Given the description of an element on the screen output the (x, y) to click on. 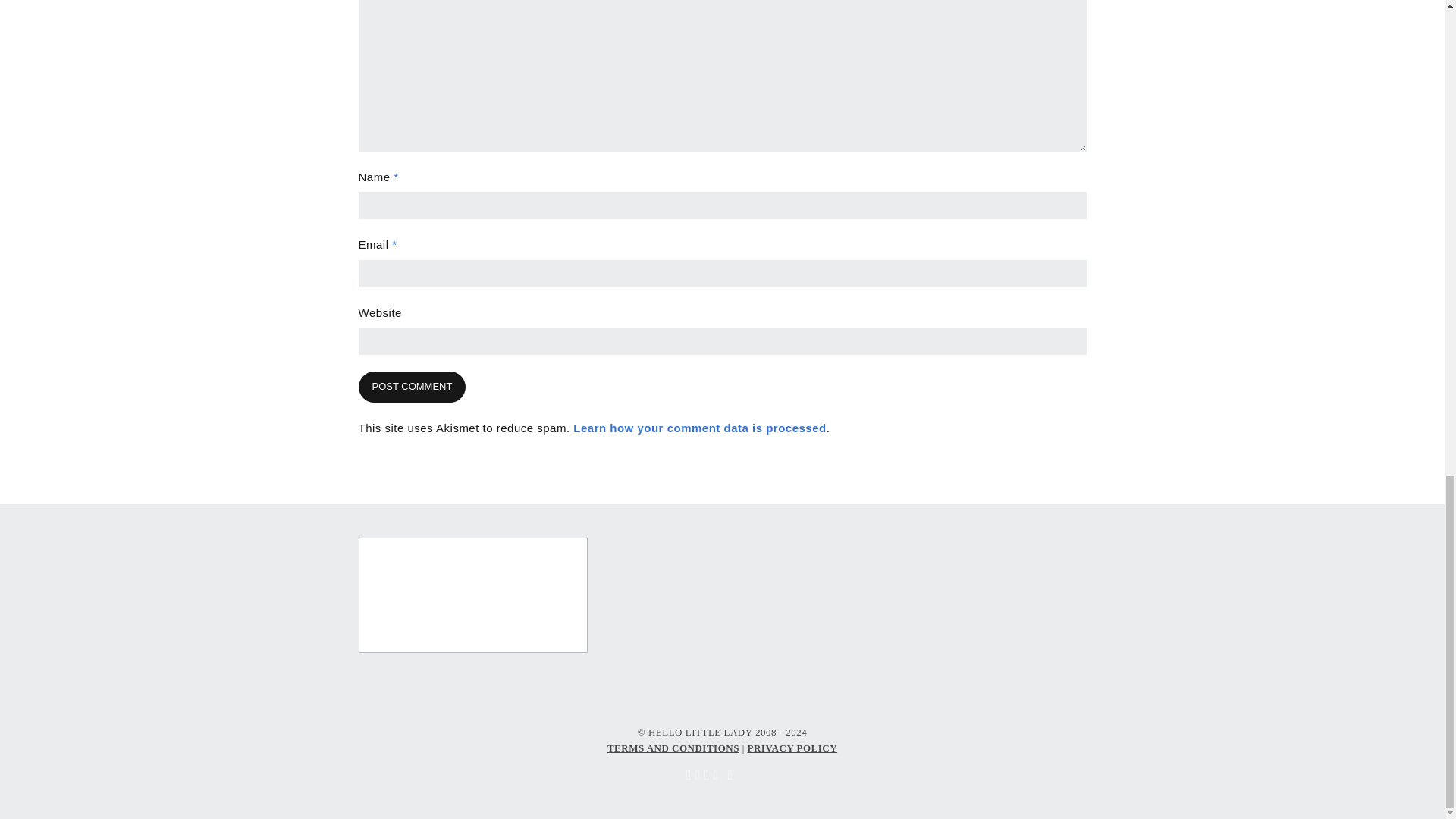
Post Comment (411, 386)
Post Comment (411, 386)
Learn how your comment data is processed (699, 427)
